Given the description of an element on the screen output the (x, y) to click on. 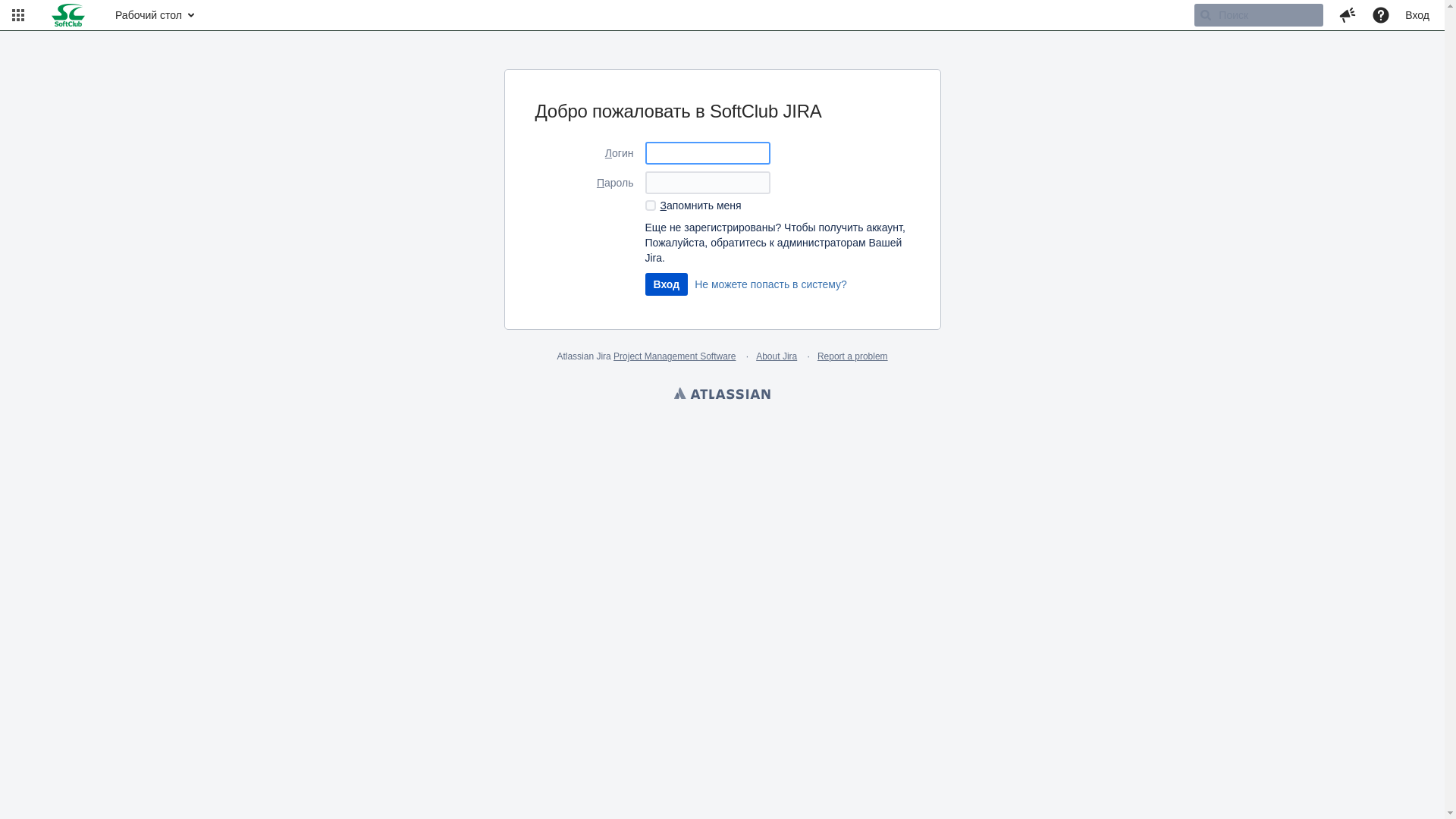
About Jira Element type: text (776, 356)
Report a problem Element type: text (852, 356)
Atlassian Element type: text (722, 394)
Project Management Software Element type: text (674, 356)
